Given the description of an element on the screen output the (x, y) to click on. 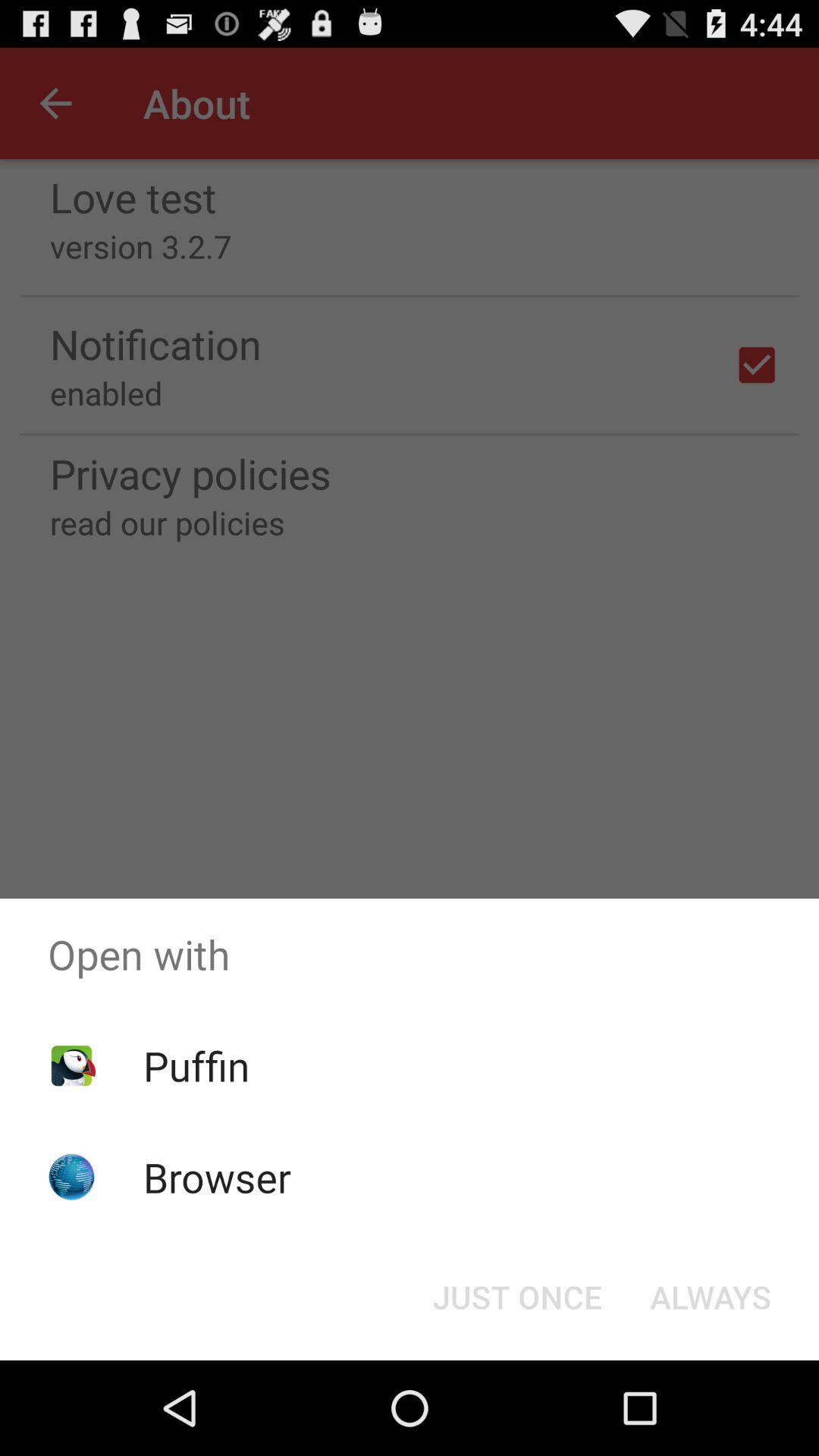
press icon next to the just once icon (710, 1296)
